Given the description of an element on the screen output the (x, y) to click on. 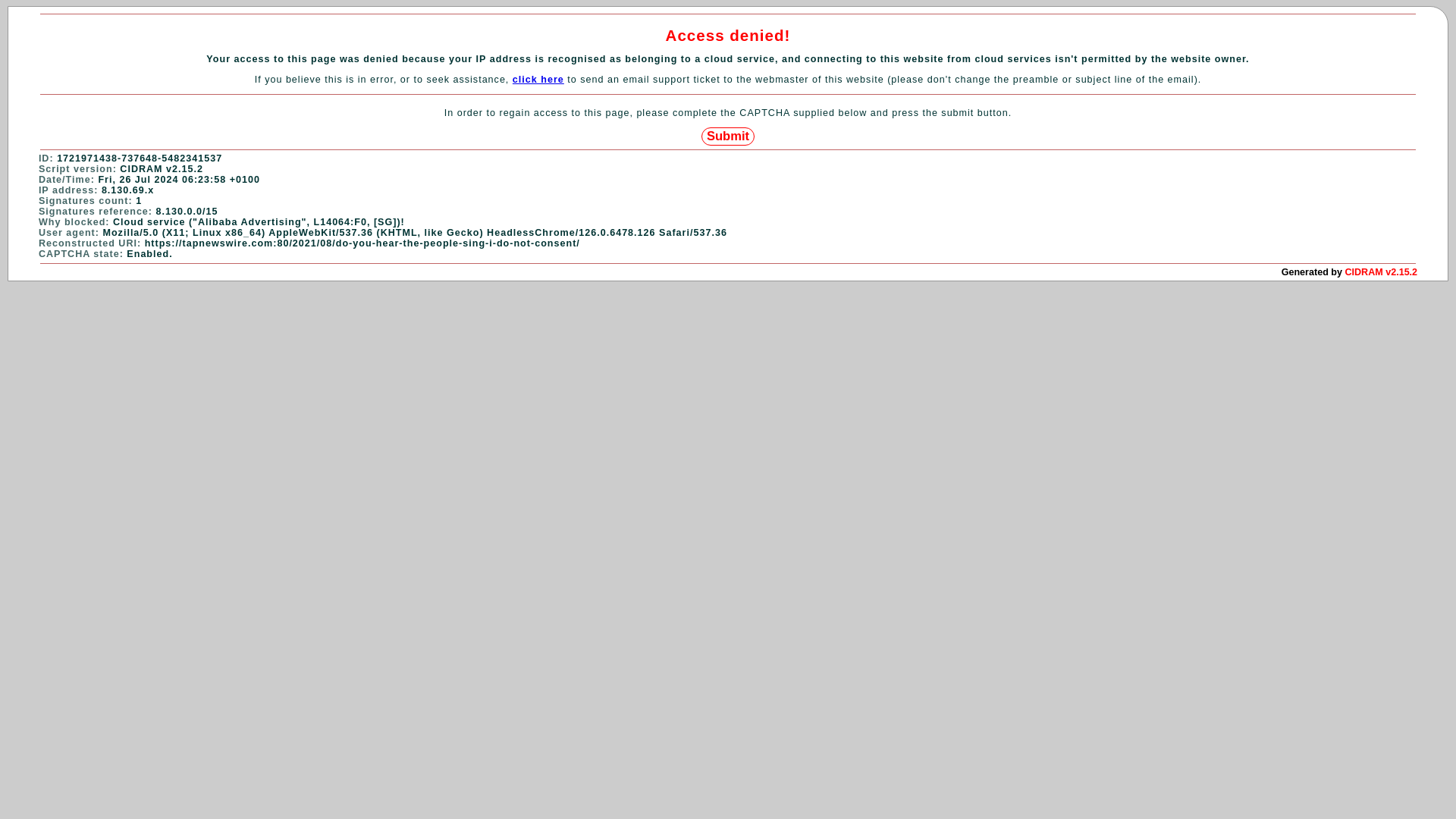
Submit (727, 136)
click here (538, 79)
Submit (727, 136)
